Given the description of an element on the screen output the (x, y) to click on. 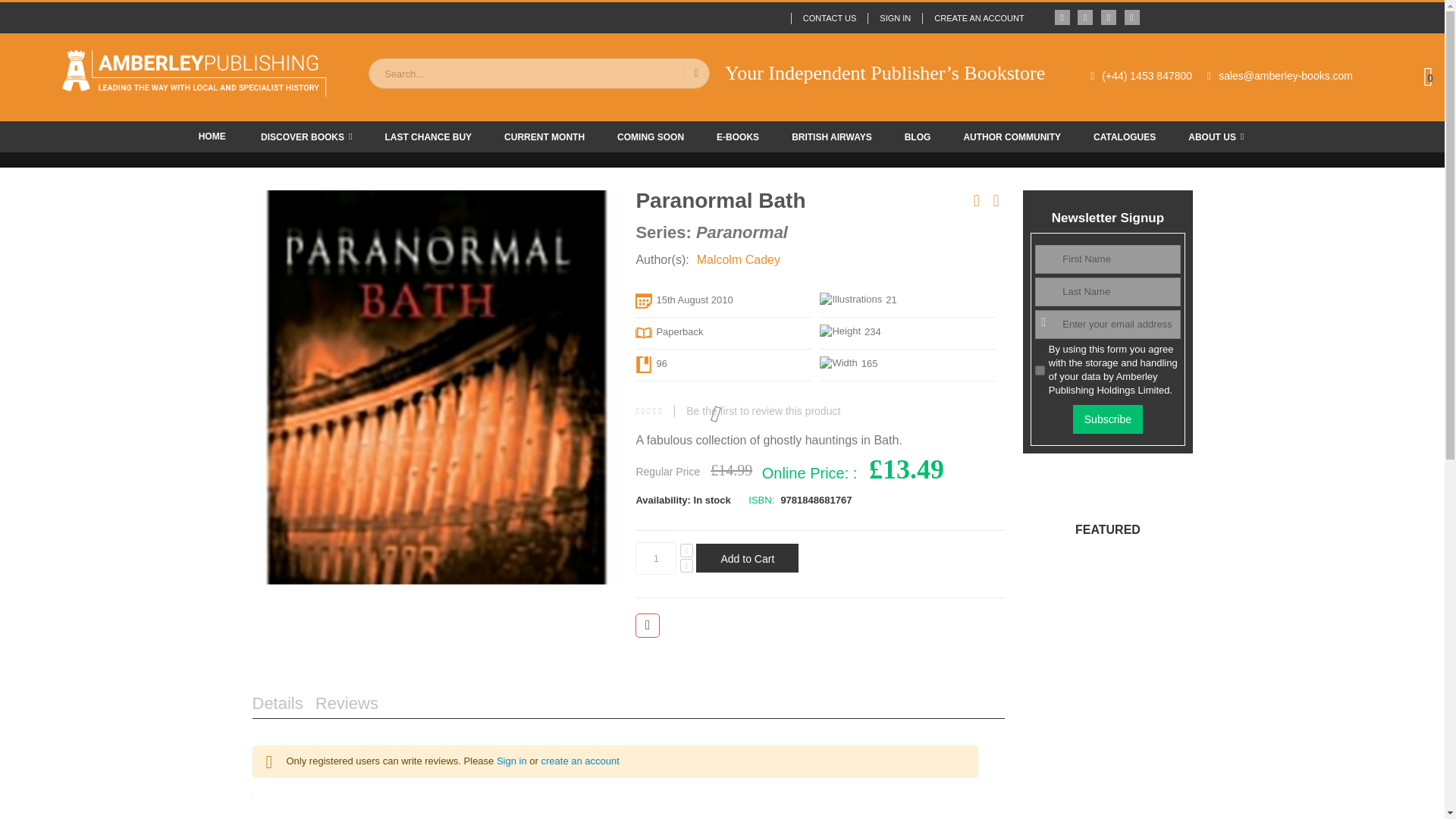
HOME (212, 136)
Ambereley Publishing Logo (193, 72)
DISCOVER BOOKS (306, 136)
CREATE AN ACCOUNT (972, 18)
Discover Books (306, 136)
CONTACT US (828, 18)
SIGN IN (894, 18)
1 (655, 558)
